Given the description of an element on the screen output the (x, y) to click on. 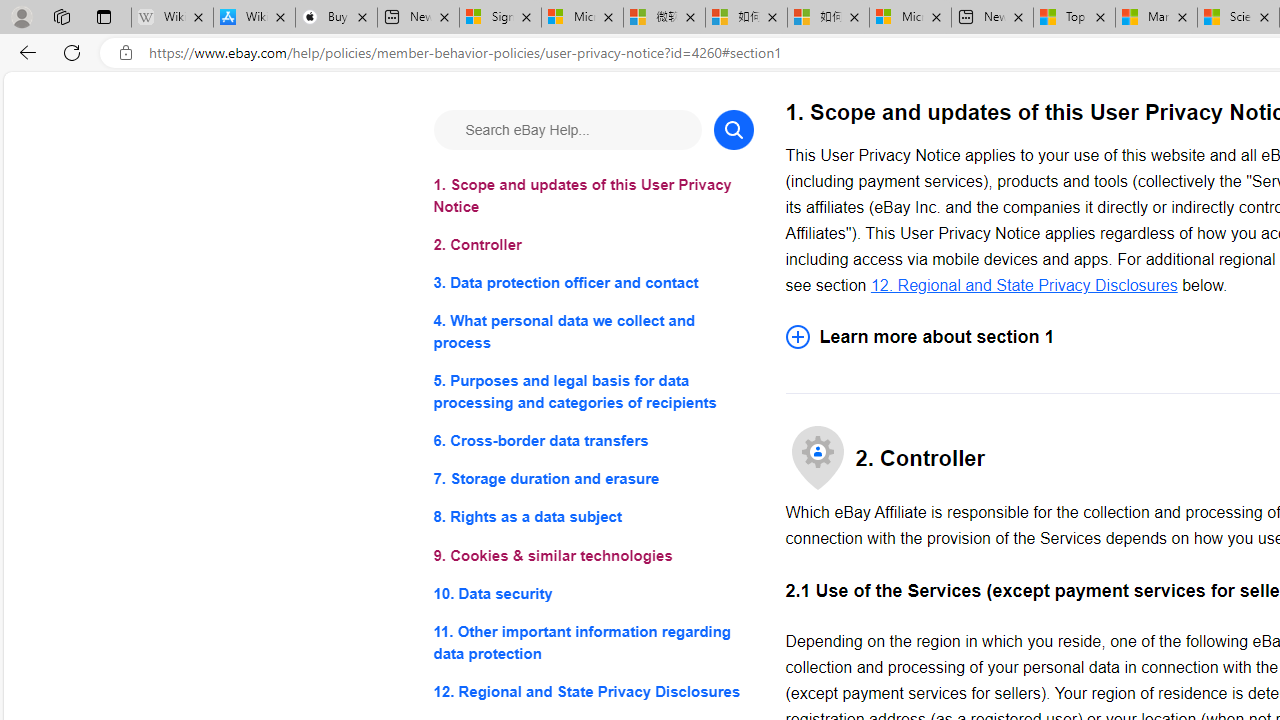
12. Regional and State Privacy Disclosures (592, 690)
4. What personal data we collect and process (592, 332)
12. Regional and State Privacy Disclosures (1023, 284)
2. Controller (592, 245)
6. Cross-border data transfers (592, 440)
9. Cookies & similar technologies (592, 555)
4. What personal data we collect and process (592, 332)
7. Storage duration and erasure (592, 479)
